Given the description of an element on the screen output the (x, y) to click on. 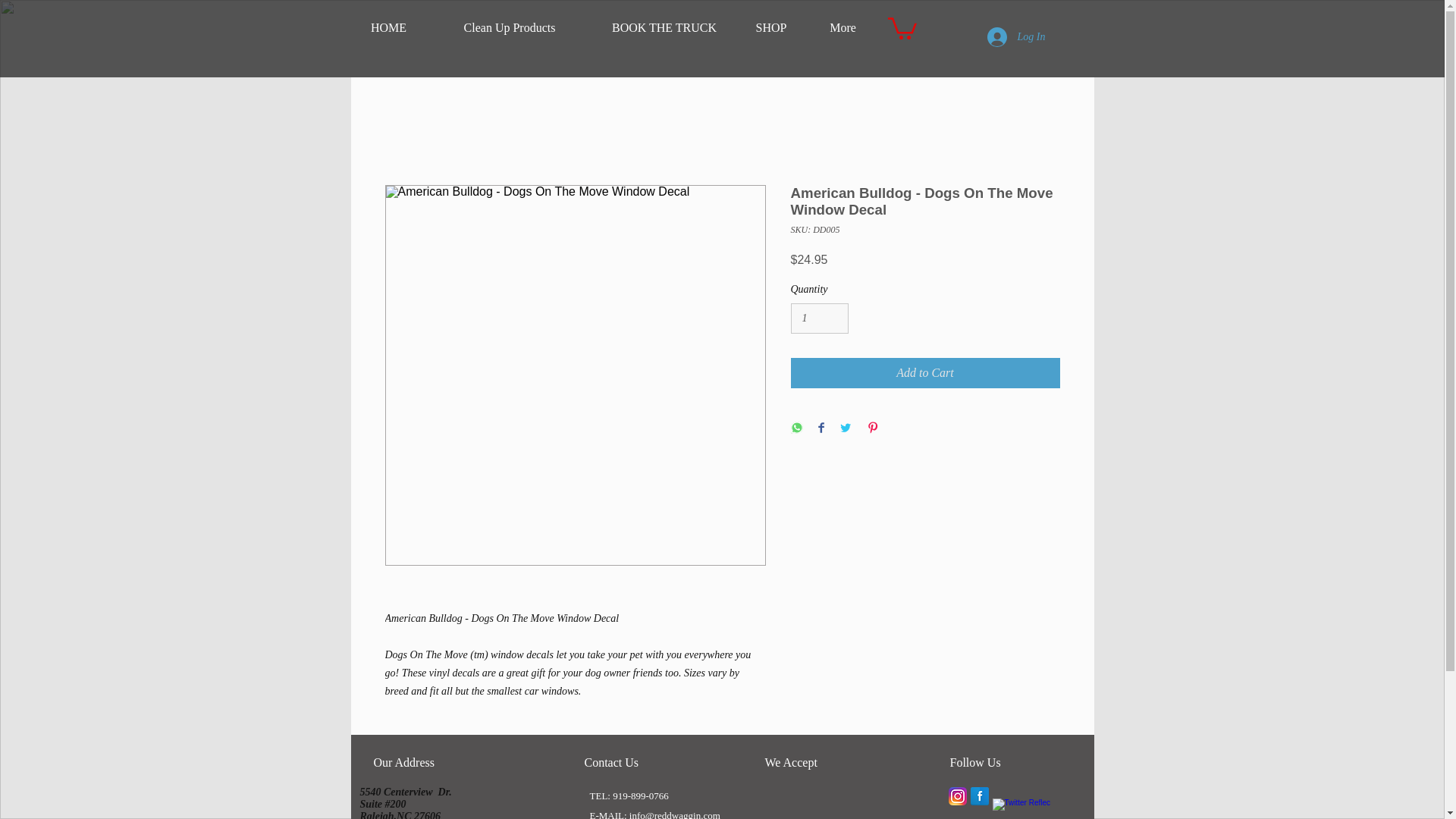
Add to Cart (924, 372)
BOOK THE TRUCK (663, 27)
SHOP (770, 27)
Clean Up Products (508, 27)
1 (818, 318)
Log In (1016, 36)
HOME (388, 27)
